Given the description of an element on the screen output the (x, y) to click on. 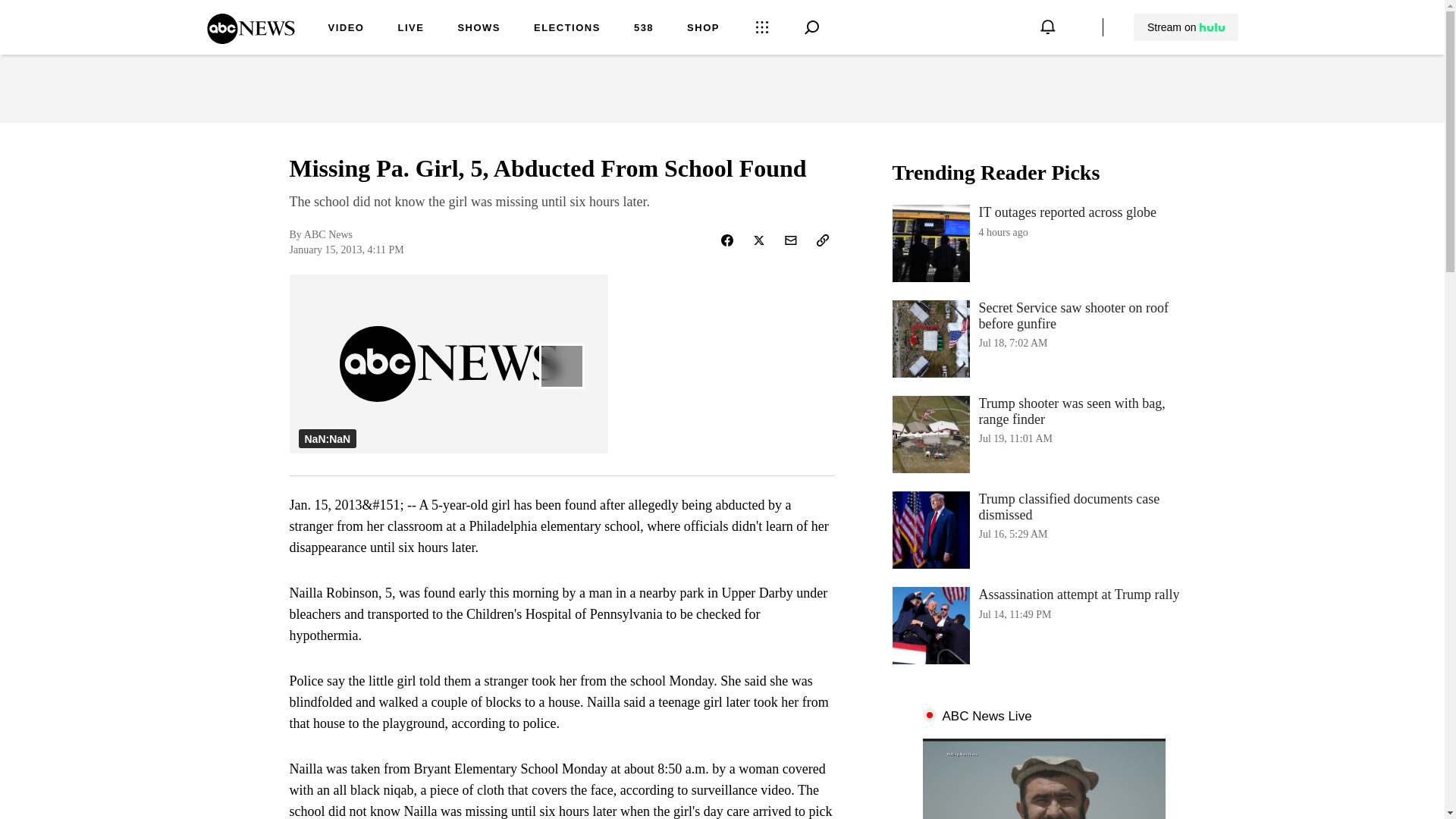
VIDEO (1043, 529)
Stream on (1043, 242)
LIVE (345, 28)
ABC News (1185, 27)
ELECTIONS (410, 28)
538 (250, 38)
SHOWS (566, 28)
SHOP (643, 28)
Stream on (478, 28)
